Given the description of an element on the screen output the (x, y) to click on. 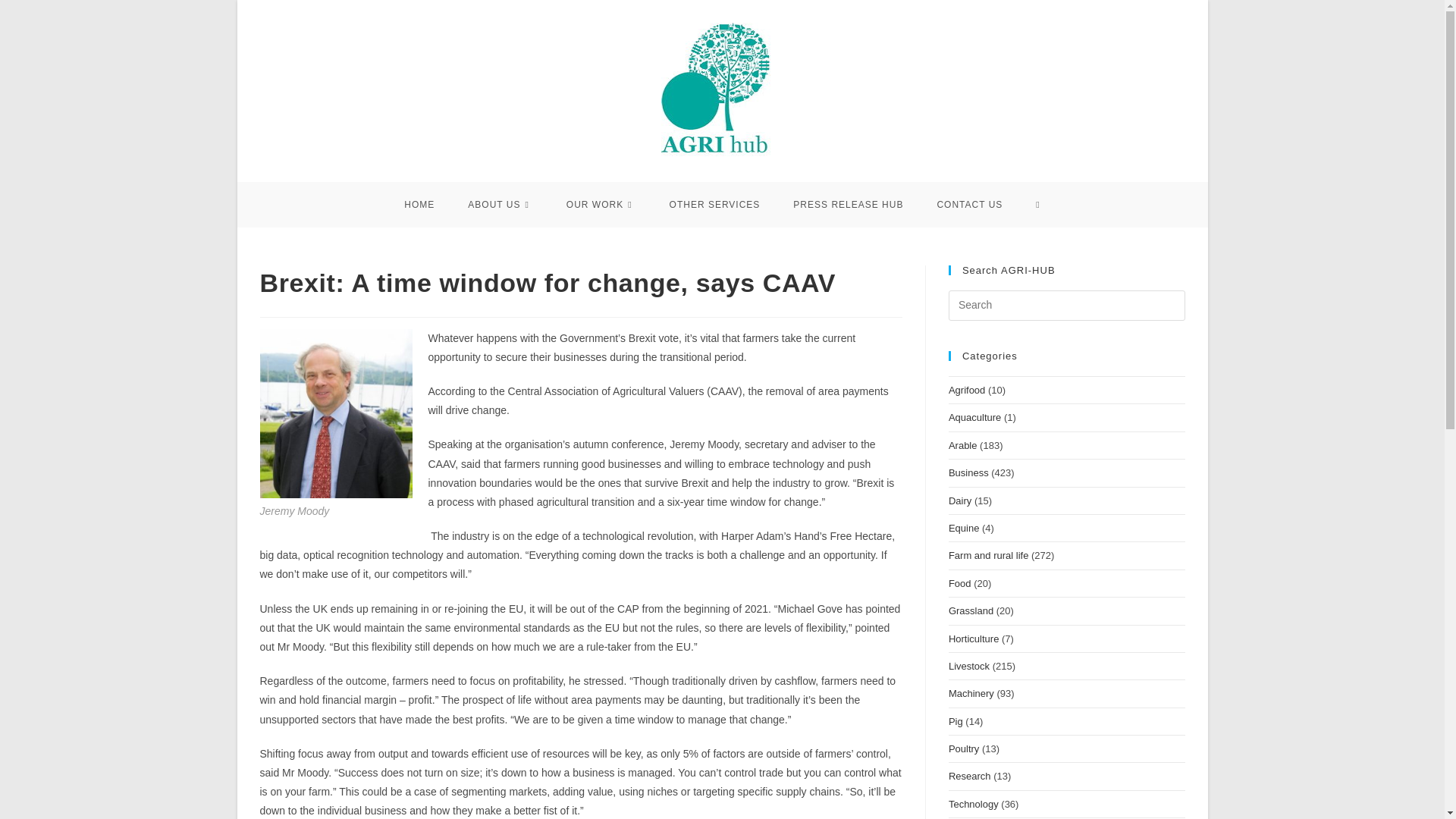
OTHER SERVICES (714, 204)
CONTACT US (969, 204)
PRESS RELEASE HUB (848, 204)
HOME (419, 204)
TOGGLE WEBSITE SEARCH (1038, 204)
ABOUT US (500, 204)
OUR WORK (601, 204)
